Given the description of an element on the screen output the (x, y) to click on. 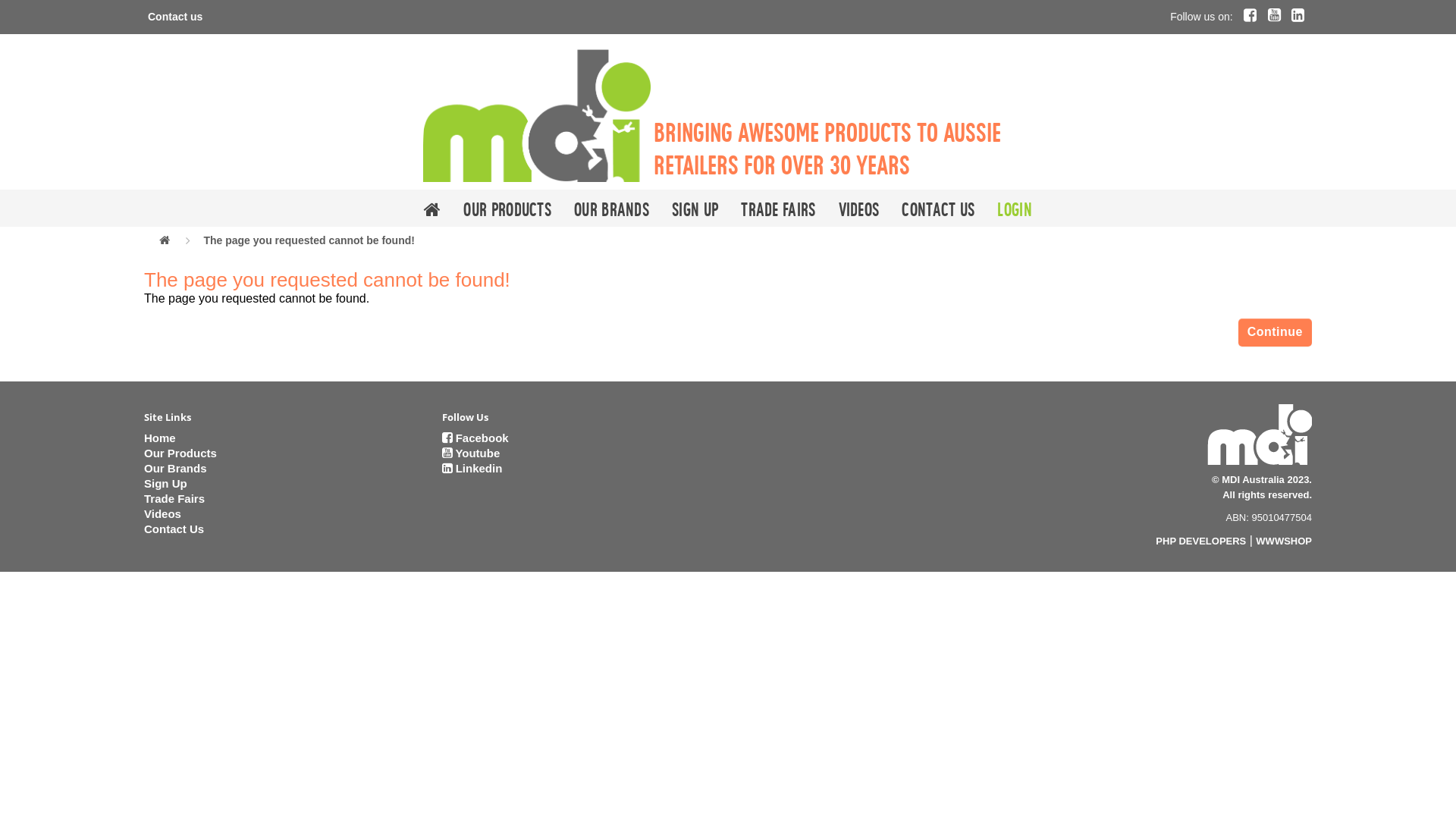
Our Brands Element type: text (611, 207)
MDI Australia Element type: hover (536, 115)
Continue Element type: text (1274, 332)
WWWSHOP Element type: text (1283, 540)
Our Brands Element type: text (175, 467)
Contact Us Element type: text (173, 528)
Sign Up Element type: text (694, 207)
Our Products Element type: text (180, 452)
Our Products Element type: text (506, 207)
Facebook Element type: text (474, 437)
Youtube Element type: text (470, 452)
Trade Fairs Element type: text (777, 207)
Videos Element type: text (162, 513)
Videos Element type: text (859, 207)
Login Element type: text (1014, 207)
Sign Up Element type: text (165, 482)
Trade Fairs Element type: text (174, 498)
The page you requested cannot be found! Element type: text (308, 240)
Contact us Element type: text (174, 16)
Home Element type: text (159, 437)
Contact Us Element type: text (937, 207)
PHP DEVELOPERS Element type: text (1200, 540)
Linkedin Element type: text (471, 467)
